Given the description of an element on the screen output the (x, y) to click on. 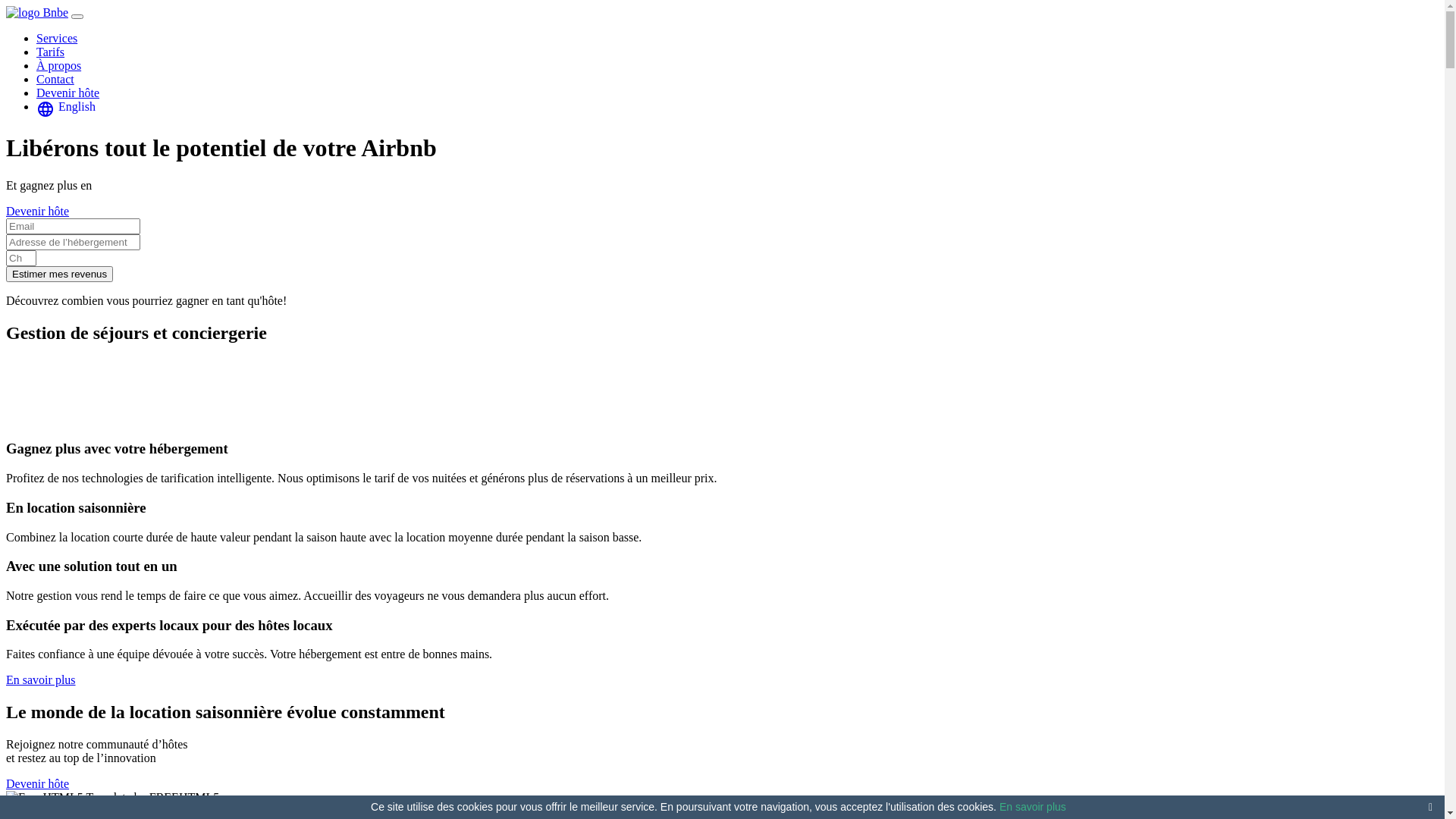
Contact Element type: text (55, 78)
Tarifs Element type: text (50, 51)
Services Element type: text (56, 37)
En savoir plus Element type: text (1032, 806)
En savoir plus Element type: text (40, 679)
language
English Element type: text (65, 106)
Estimer mes revenus Element type: text (59, 274)
